Given the description of an element on the screen output the (x, y) to click on. 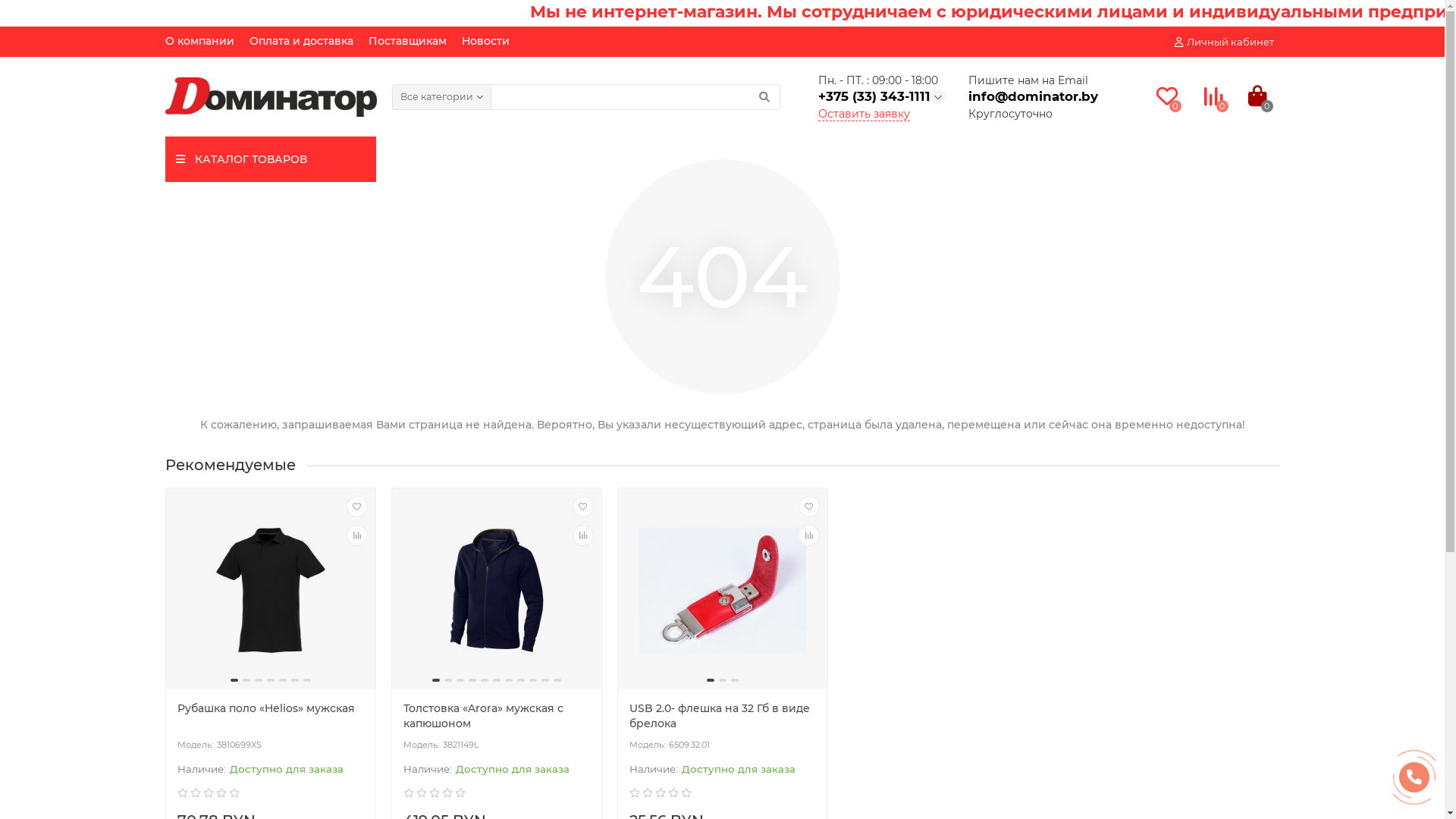
0 Element type: text (1257, 96)
